Given the description of an element on the screen output the (x, y) to click on. 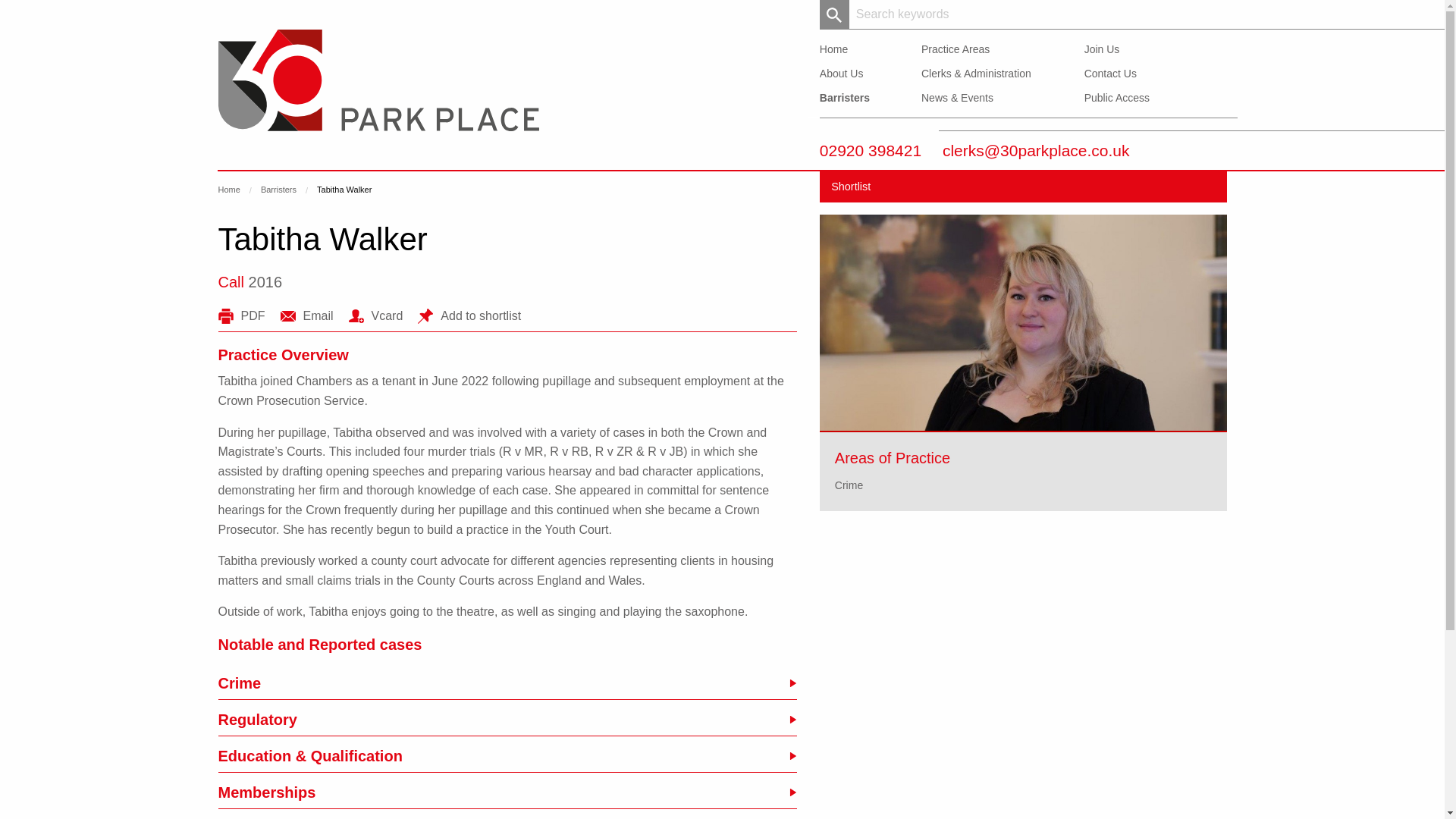
GO (833, 14)
GO (833, 14)
PDF (241, 315)
Regulatory (507, 719)
02920 398421 (870, 150)
About Us (841, 73)
Home (229, 189)
Crime (507, 683)
Public Access (1117, 97)
Home (833, 49)
